Given the description of an element on the screen output the (x, y) to click on. 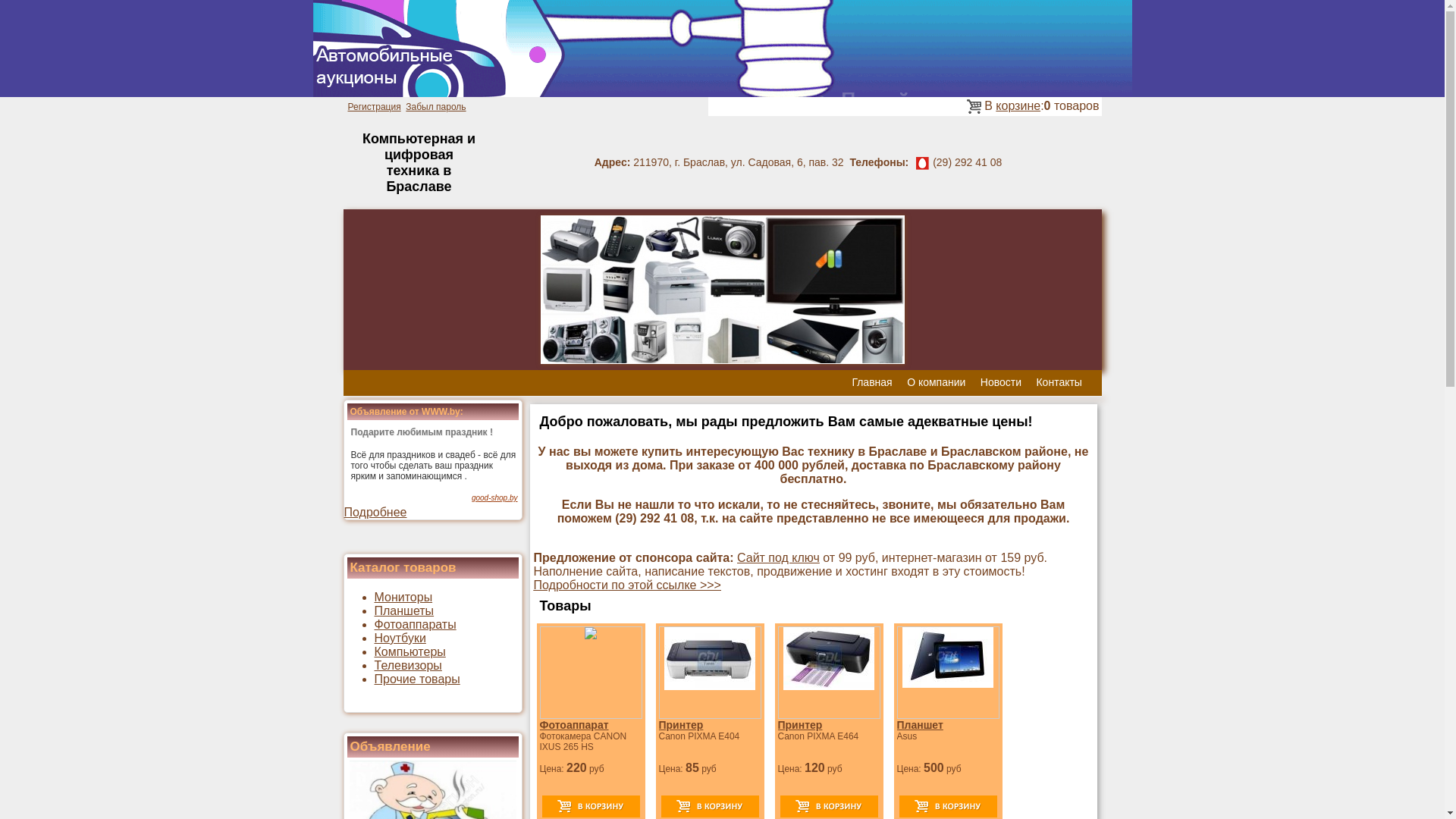
good-shop.by Element type: text (494, 497)
